Given the description of an element on the screen output the (x, y) to click on. 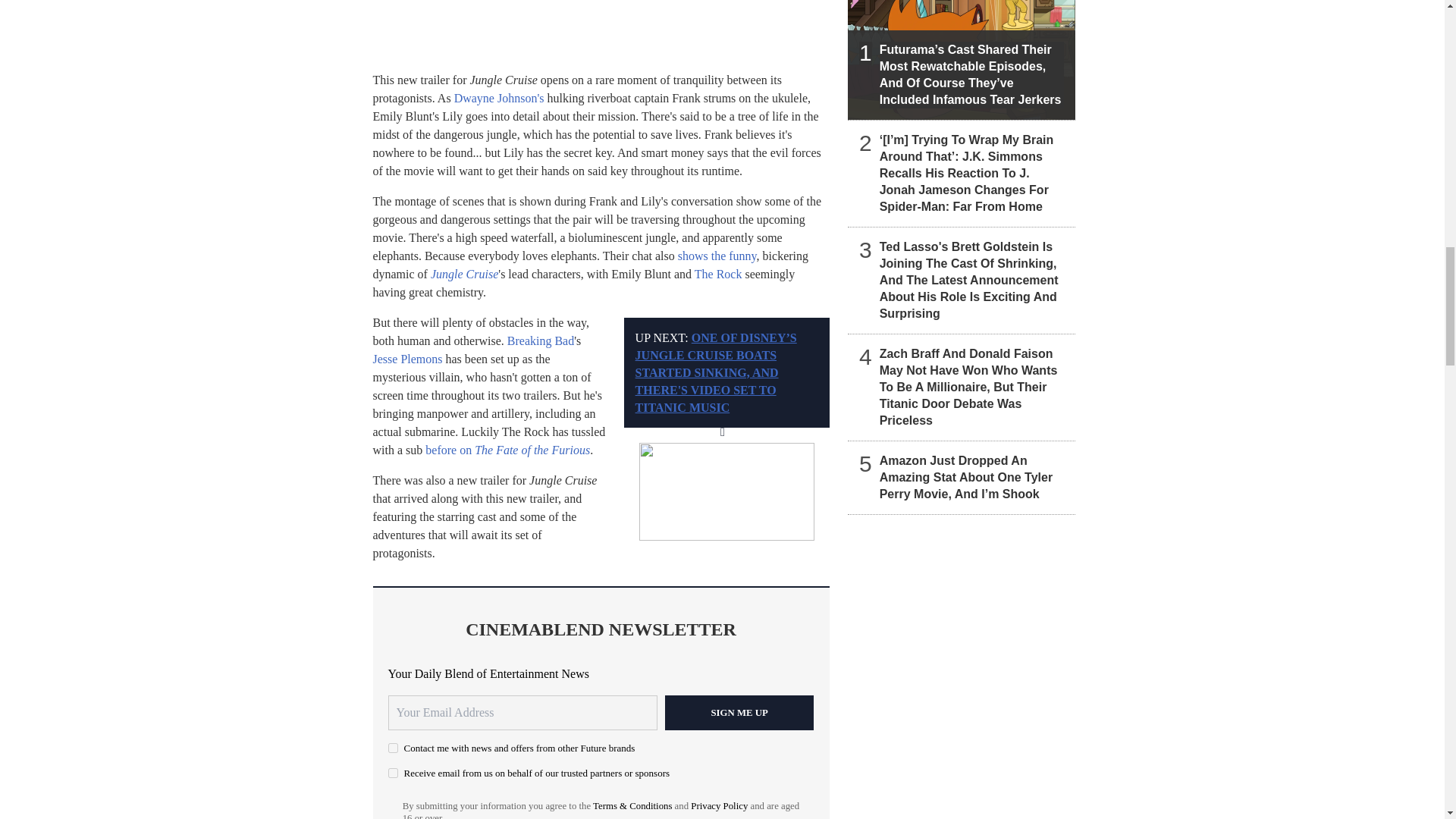
on (392, 773)
Sign me up (739, 712)
on (392, 747)
